Given the description of an element on the screen output the (x, y) to click on. 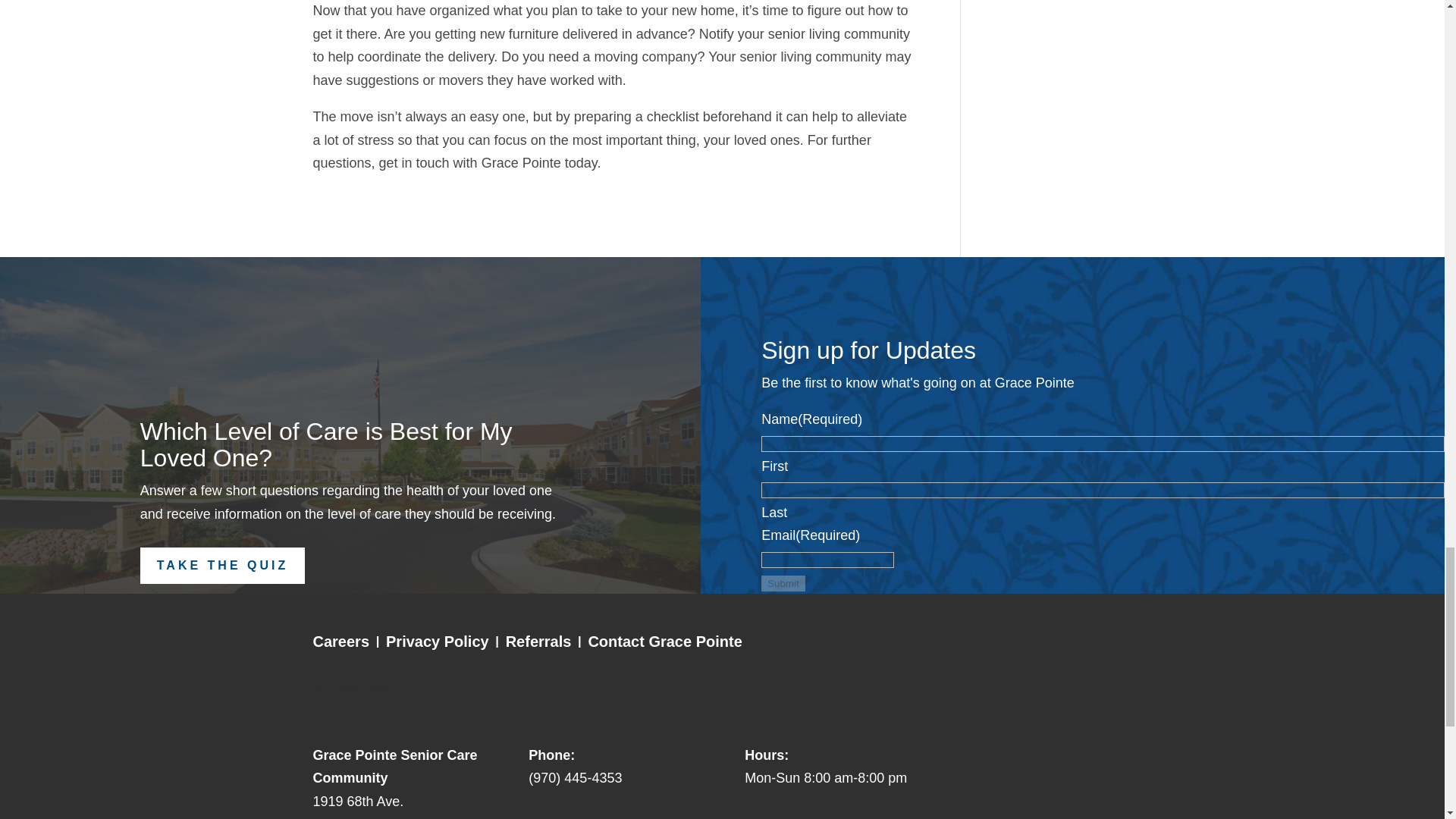
Submit (783, 583)
